Given the description of an element on the screen output the (x, y) to click on. 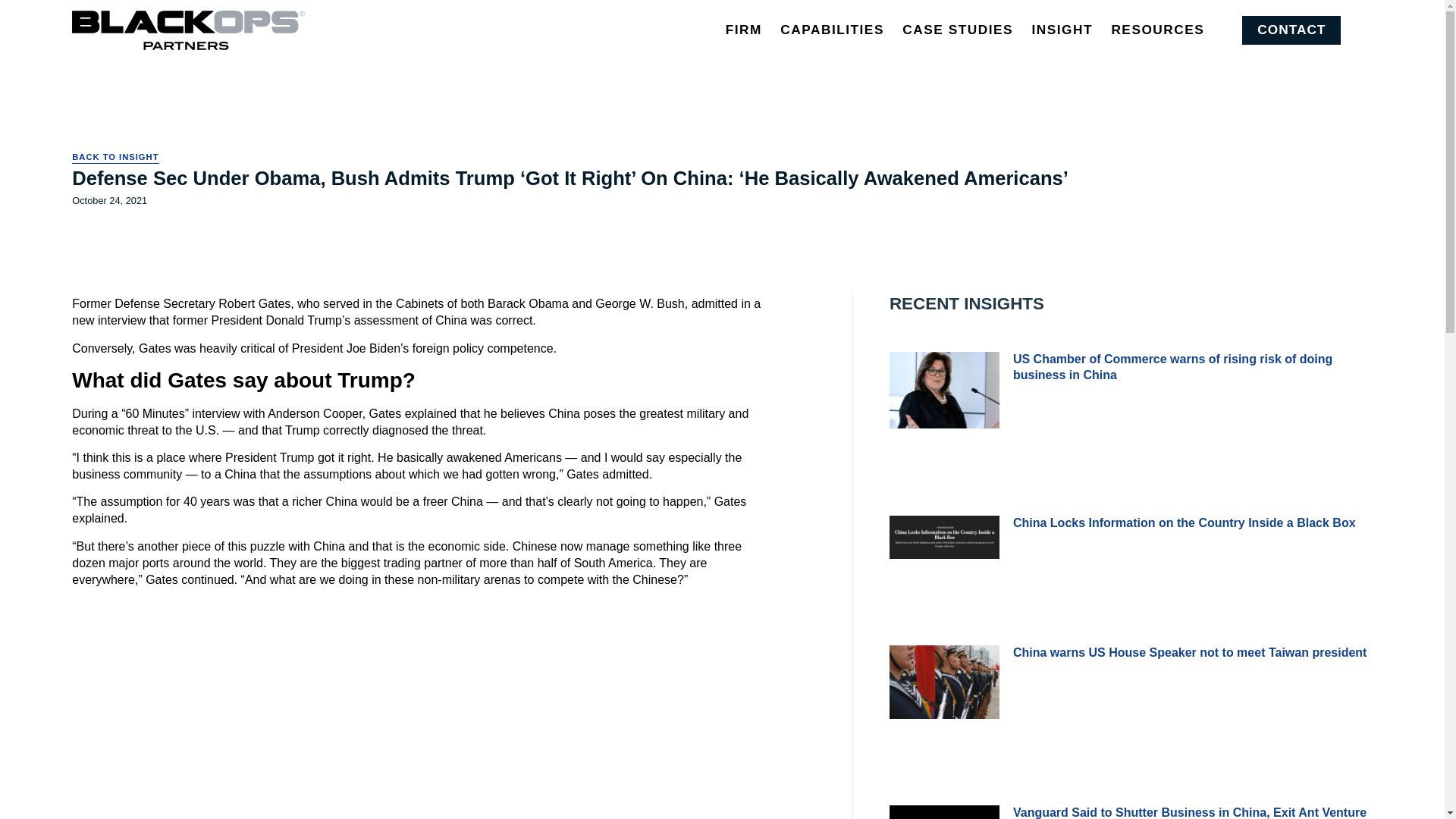
INSIGHT (1061, 30)
FIRM (743, 30)
China Locks Information on the Country Inside a Black Box (1184, 522)
Vanguard Said to Shutter Business in China, Exit Ant Venture (1190, 812)
China warns US House Speaker not to meet Taiwan president (1190, 652)
CASE STUDIES (957, 30)
CAPABILITIES (831, 30)
CONTACT (1290, 29)
RESOURCES (1157, 30)
